Given the description of an element on the screen output the (x, y) to click on. 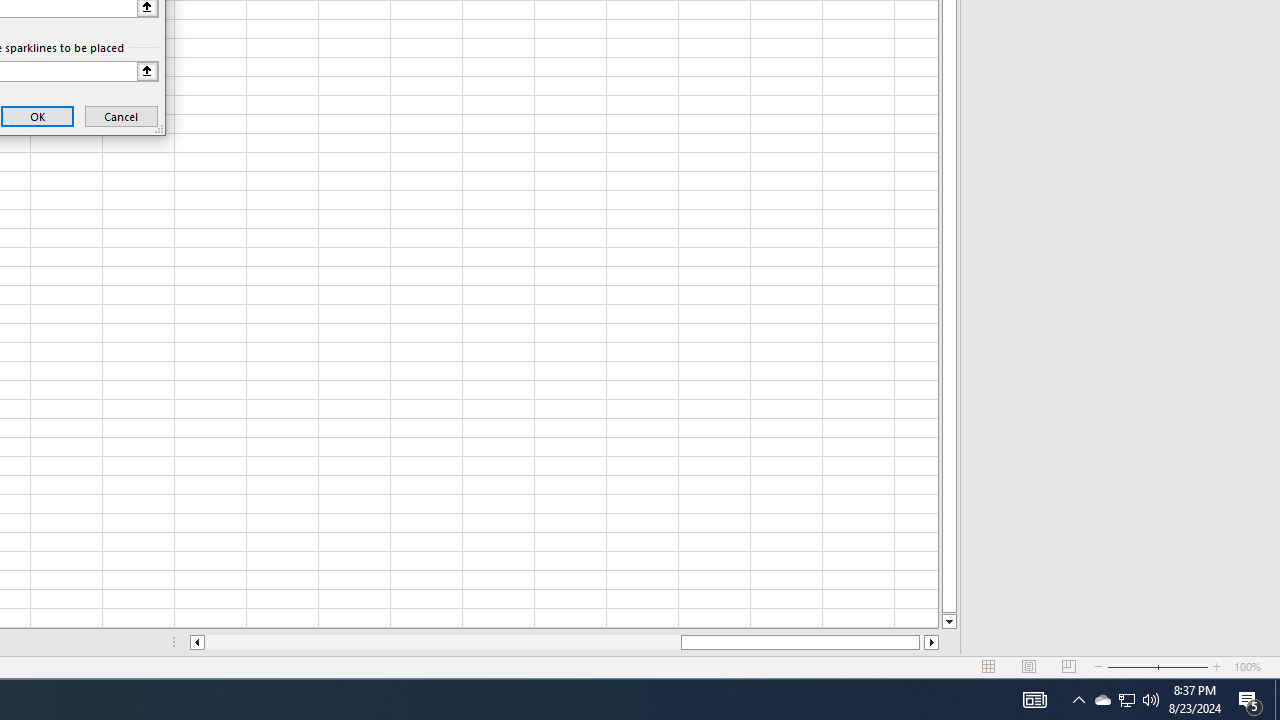
Cancel (1102, 699)
Show desktop (121, 116)
Q2790: 100% (1277, 699)
